Given the description of an element on the screen output the (x, y) to click on. 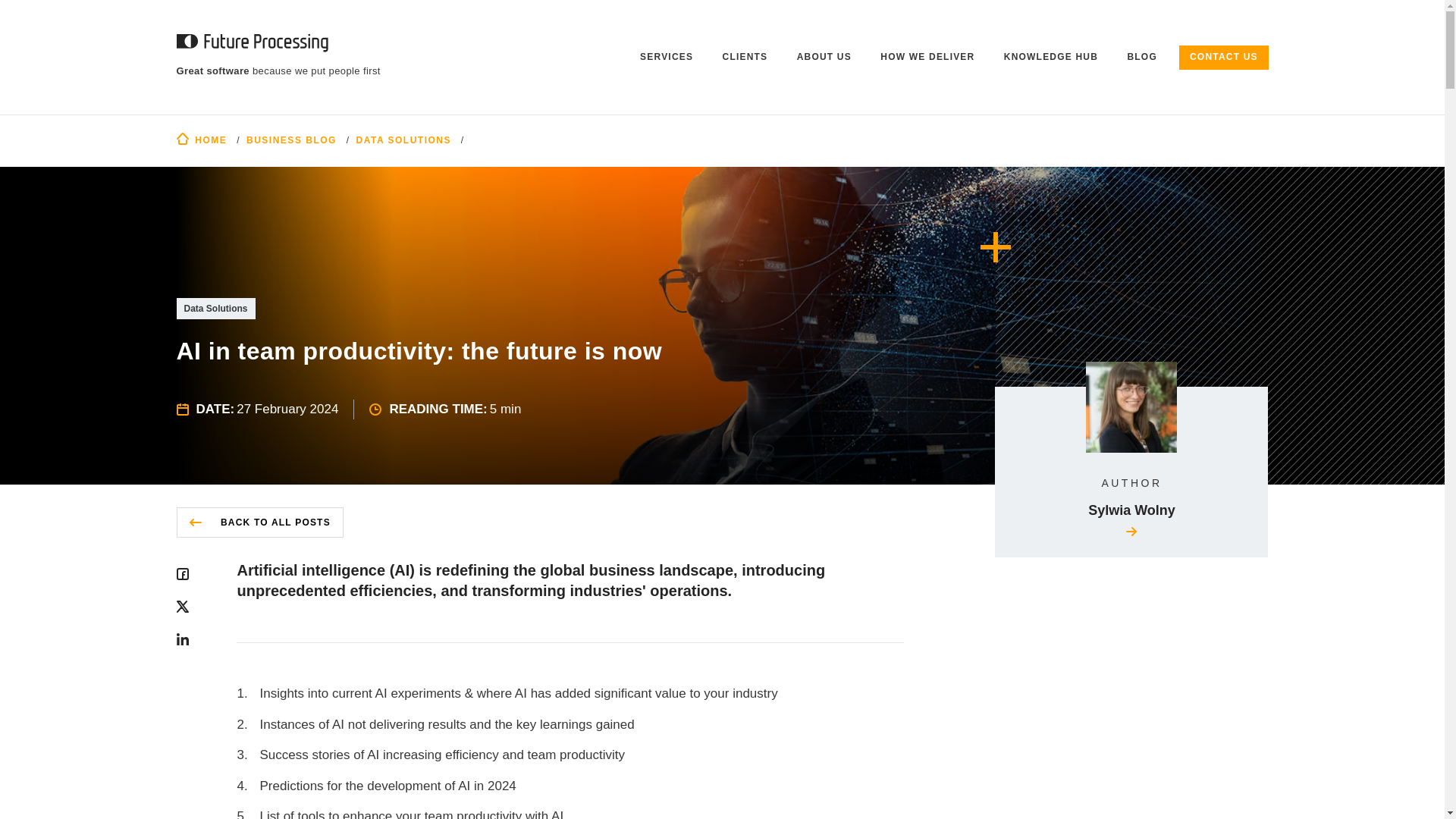
DATA SOLUTIONS (403, 140)
HOW WE DELIVER (928, 57)
List of tools to enhance your team productivity with AI (569, 812)
KNOWLEDGE HUB (1051, 57)
BACK TO ALL POSTS (259, 521)
HOME (201, 140)
CONTACT US (1223, 57)
BUSINESS BLOG (291, 140)
